Given the description of an element on the screen output the (x, y) to click on. 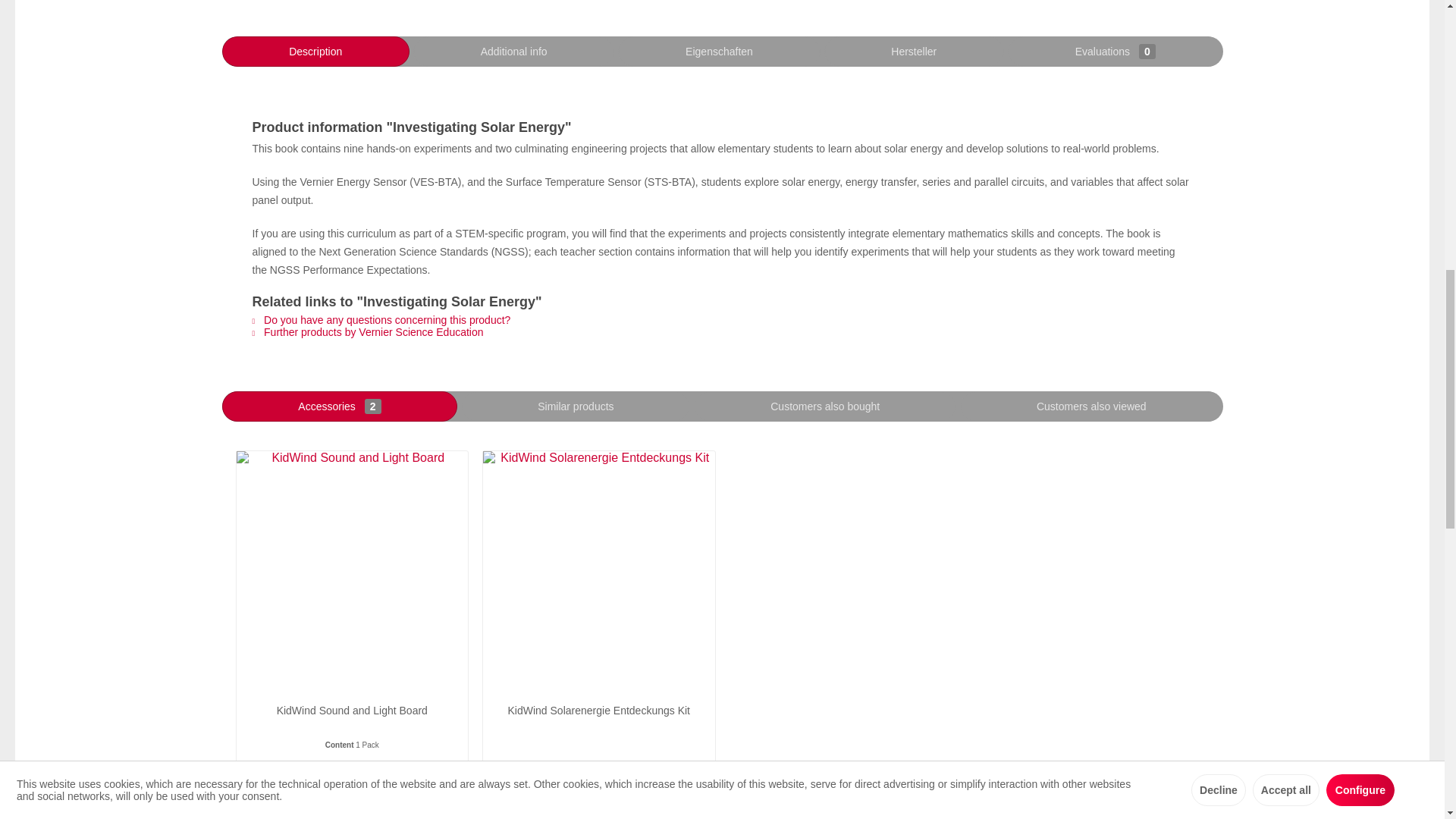
Description (315, 51)
Hersteller (914, 51)
Evaluations 0 (1115, 51)
Eigenschaften (718, 51)
Additional info (513, 51)
